Given the description of an element on the screen output the (x, y) to click on. 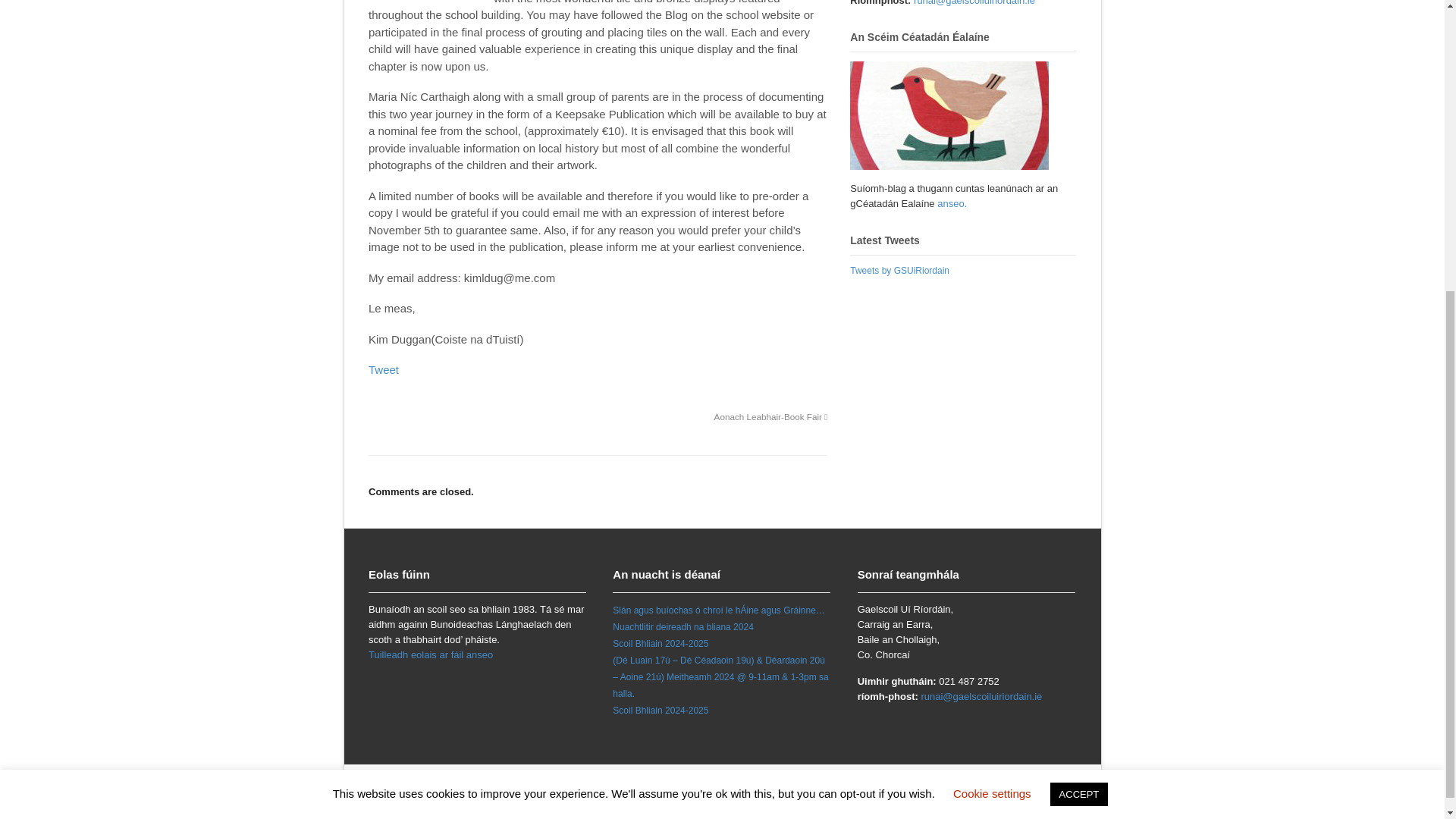
Aonach Leabhair-Book Fair (771, 416)
Tweet (383, 369)
anseo. (951, 203)
